Given the description of an element on the screen output the (x, y) to click on. 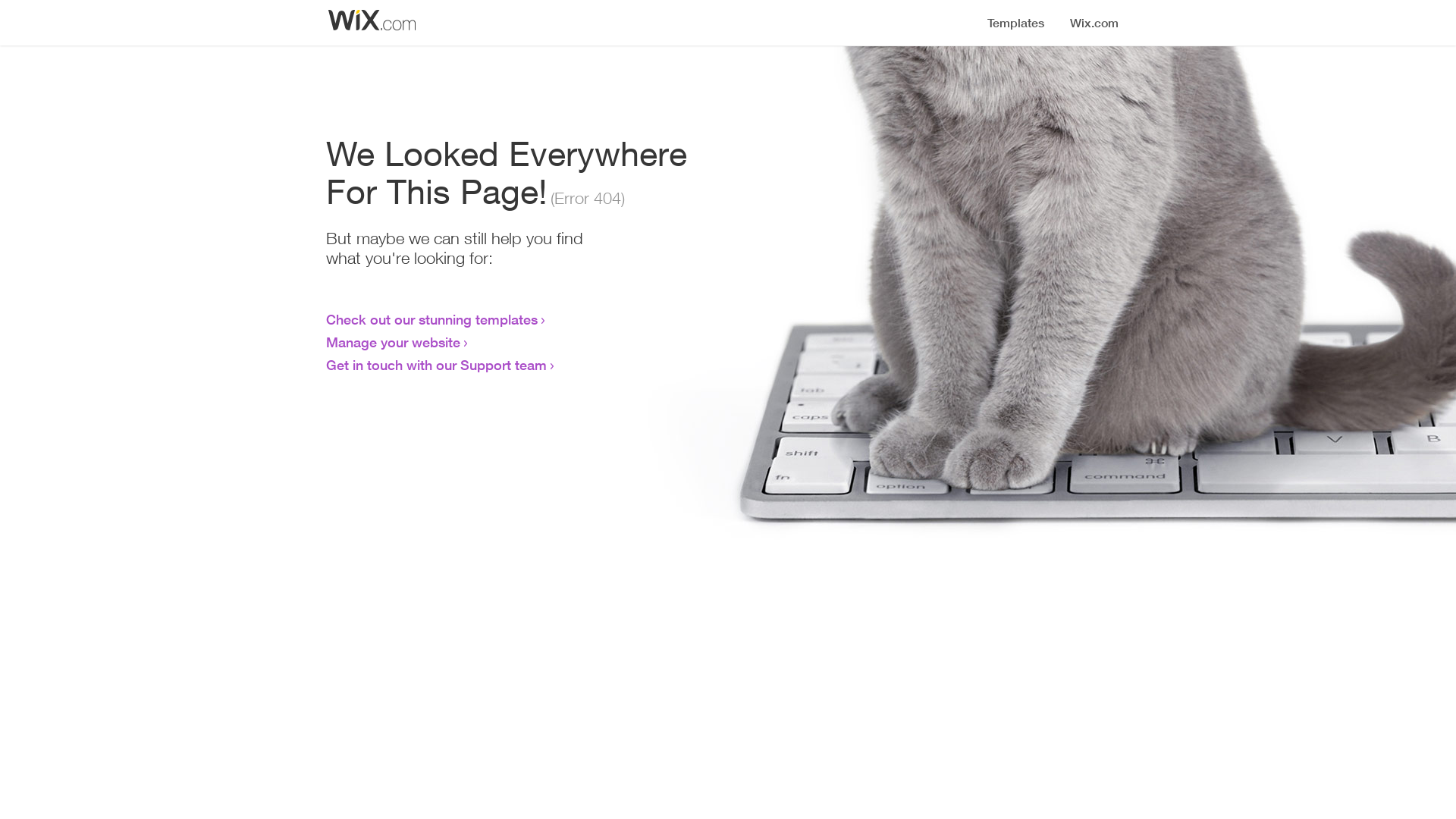
Get in touch with our Support team Element type: text (436, 364)
Check out our stunning templates Element type: text (431, 318)
Manage your website Element type: text (393, 341)
